Given the description of an element on the screen output the (x, y) to click on. 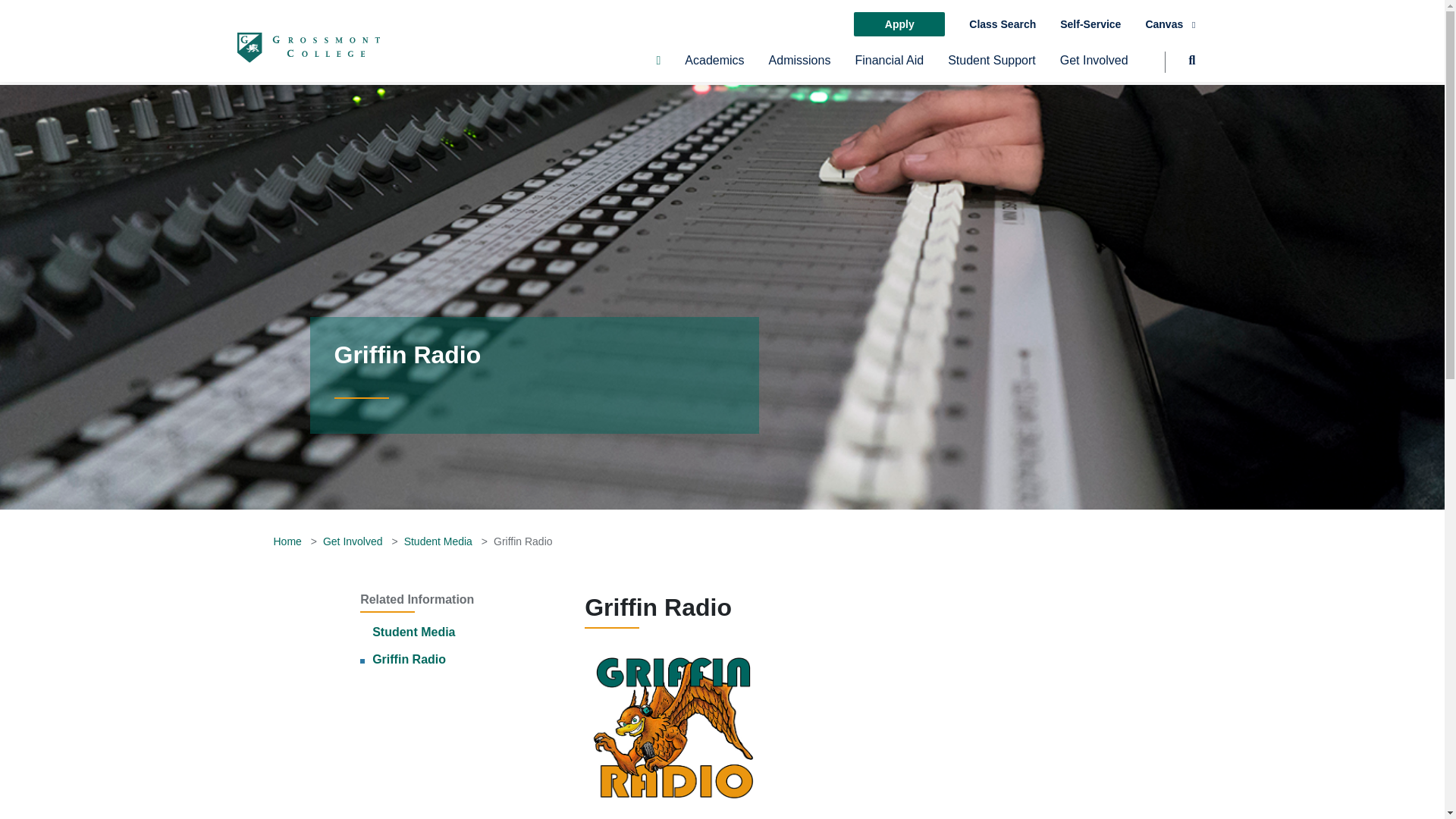
Student Support (991, 66)
Financial Aid (888, 66)
Home (287, 541)
grossmont.edu (306, 47)
Academics (714, 66)
Student Media (413, 631)
Get Involved (1093, 66)
Apply (898, 24)
Admissions (799, 66)
Get Involved (1093, 66)
